Given the description of an element on the screen output the (x, y) to click on. 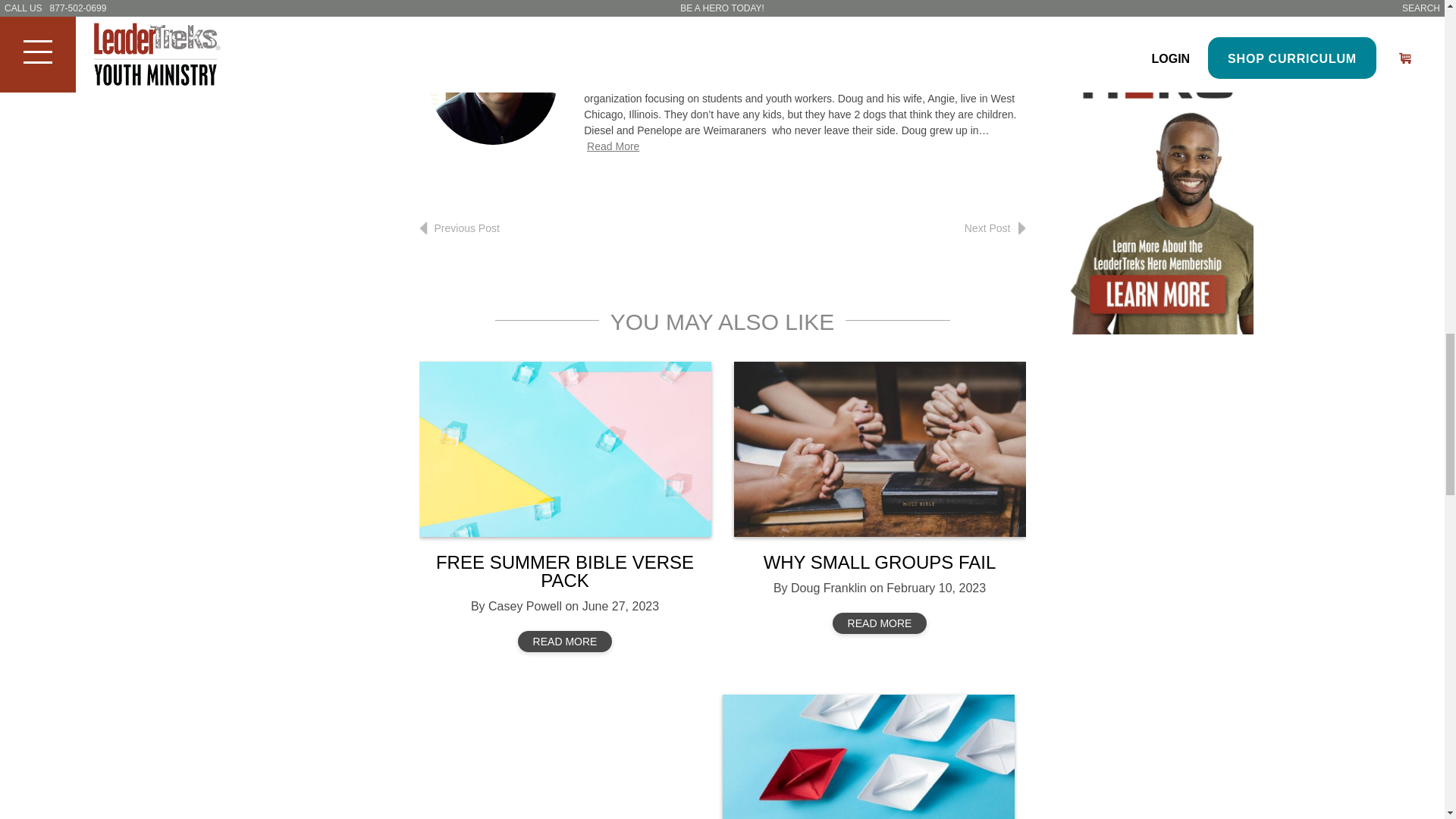
Why Small Groups Fail (879, 449)
GROW YOUR LEADERSHIP (867, 756)
READ MORE (879, 622)
Previous Post (459, 227)
WHY SMALL GROUPS FAIL (878, 562)
Next Post (994, 227)
FREE summer bible Verse PACK (564, 449)
FREE SUMMER BIBLE VERSE PACK (564, 571)
READ MORE (565, 640)
Read More (612, 146)
